Given the description of an element on the screen output the (x, y) to click on. 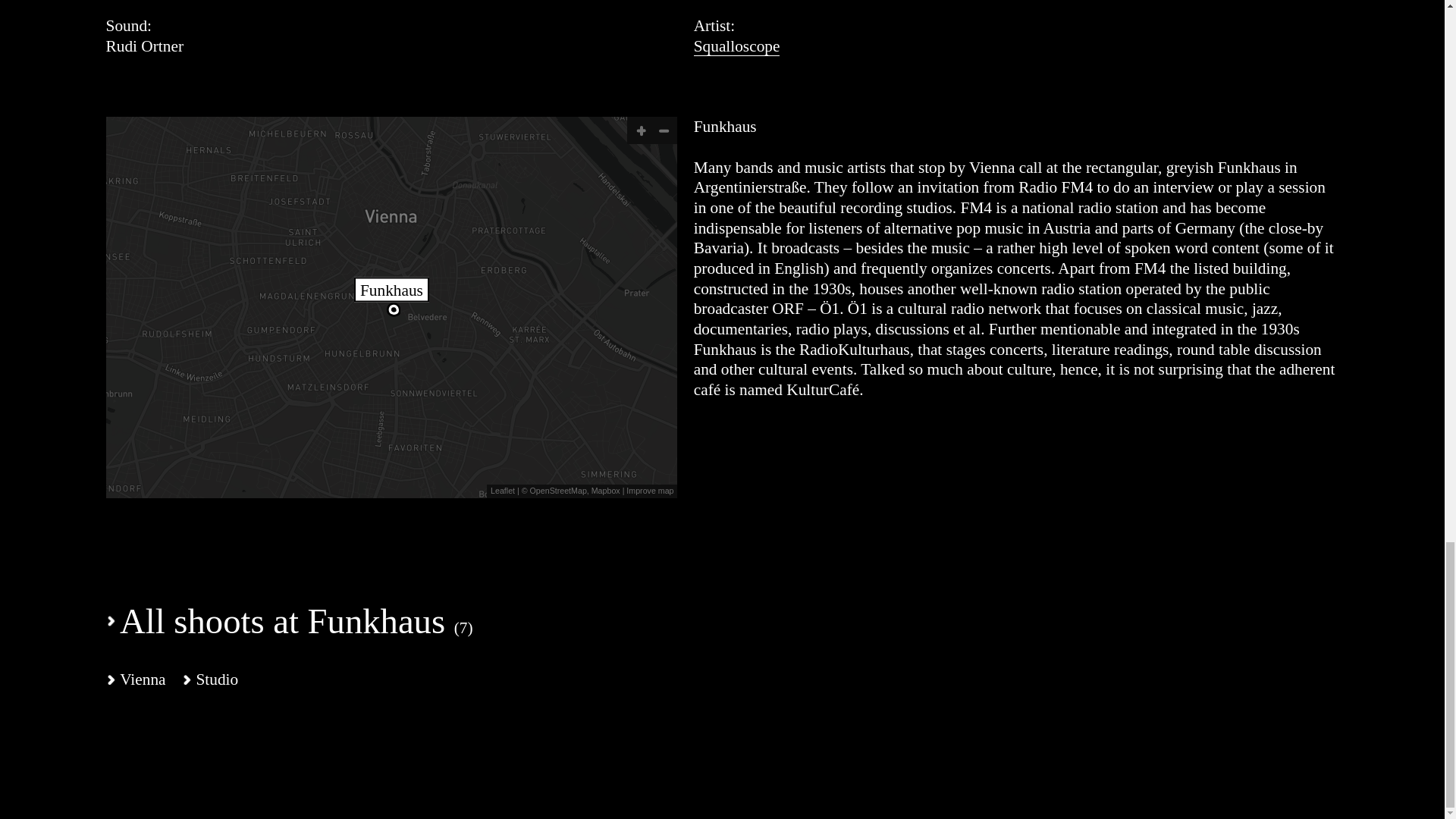
Zoom out (664, 130)
A JavaScript library for interactive maps (502, 490)
Studio (210, 679)
Mapbox (605, 490)
OpenStreetMap (557, 490)
Zoom in (639, 130)
Vienna (135, 679)
Improve map (648, 490)
Squalloscope (737, 46)
Leaflet (502, 490)
